Given the description of an element on the screen output the (x, y) to click on. 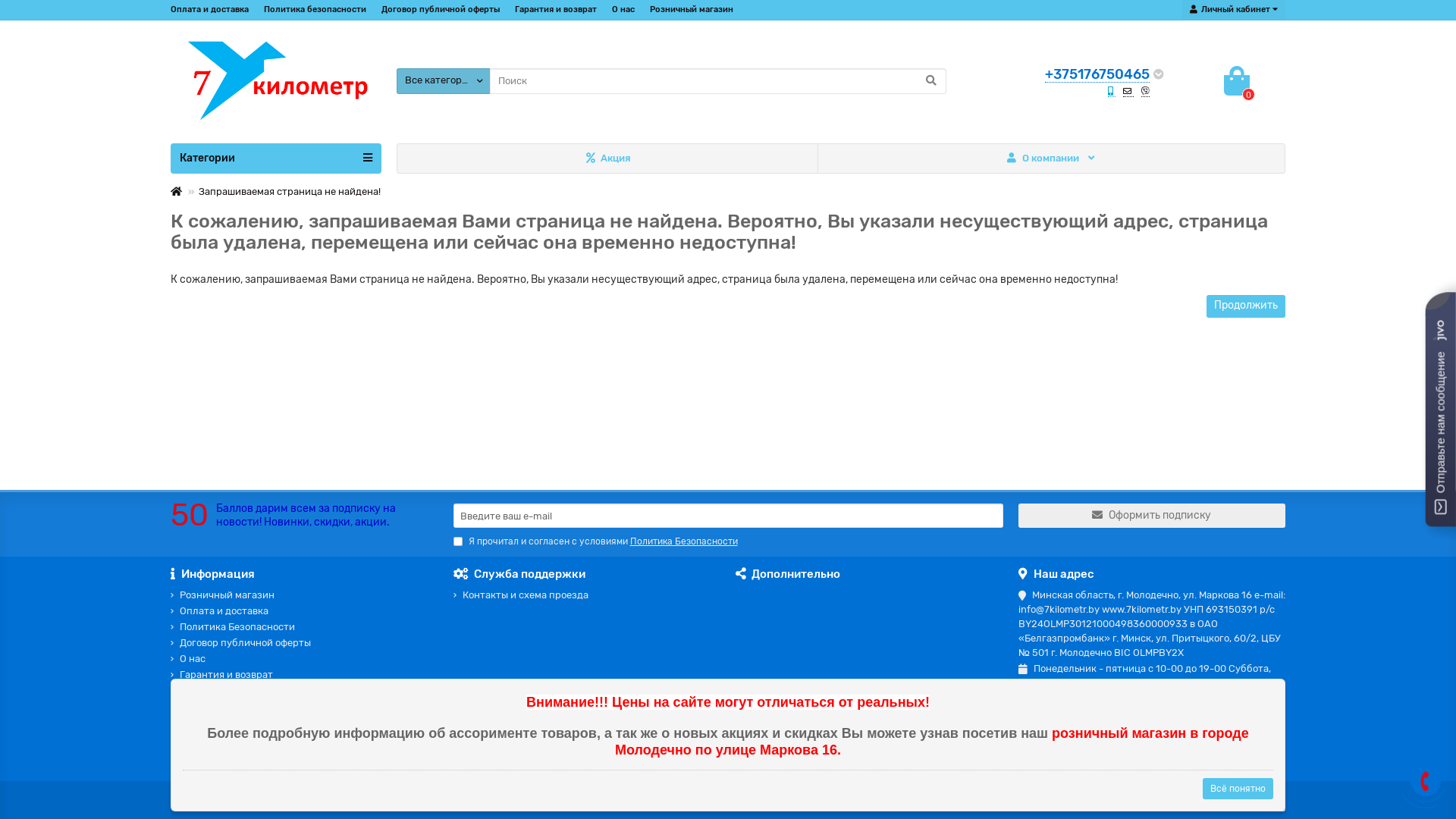
0 Element type: text (1236, 80)
